Given the description of an element on the screen output the (x, y) to click on. 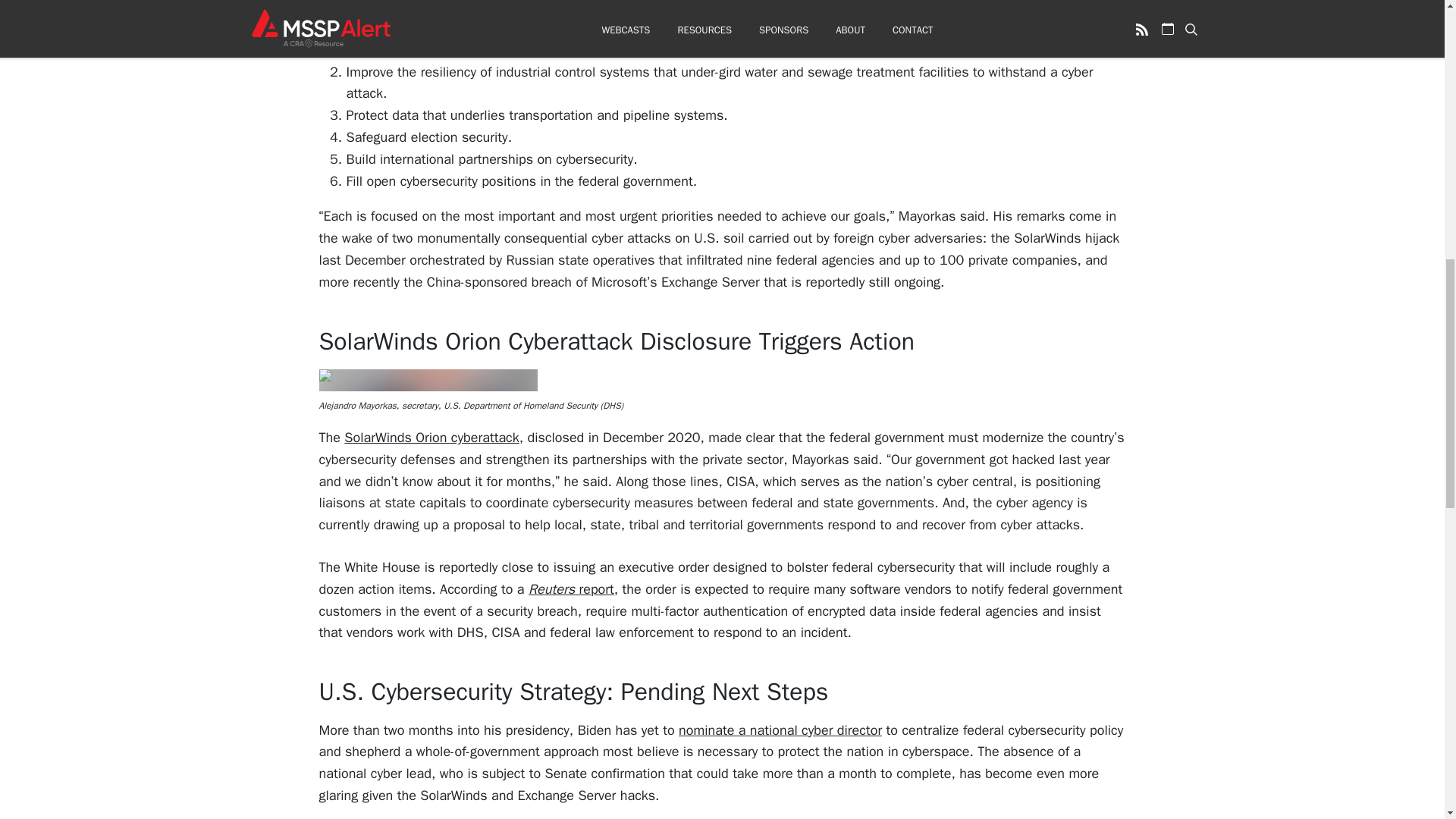
Reuters report (571, 588)
SolarWinds Orion cyberattack (430, 437)
nominate a national cyber director (780, 729)
